Given the description of an element on the screen output the (x, y) to click on. 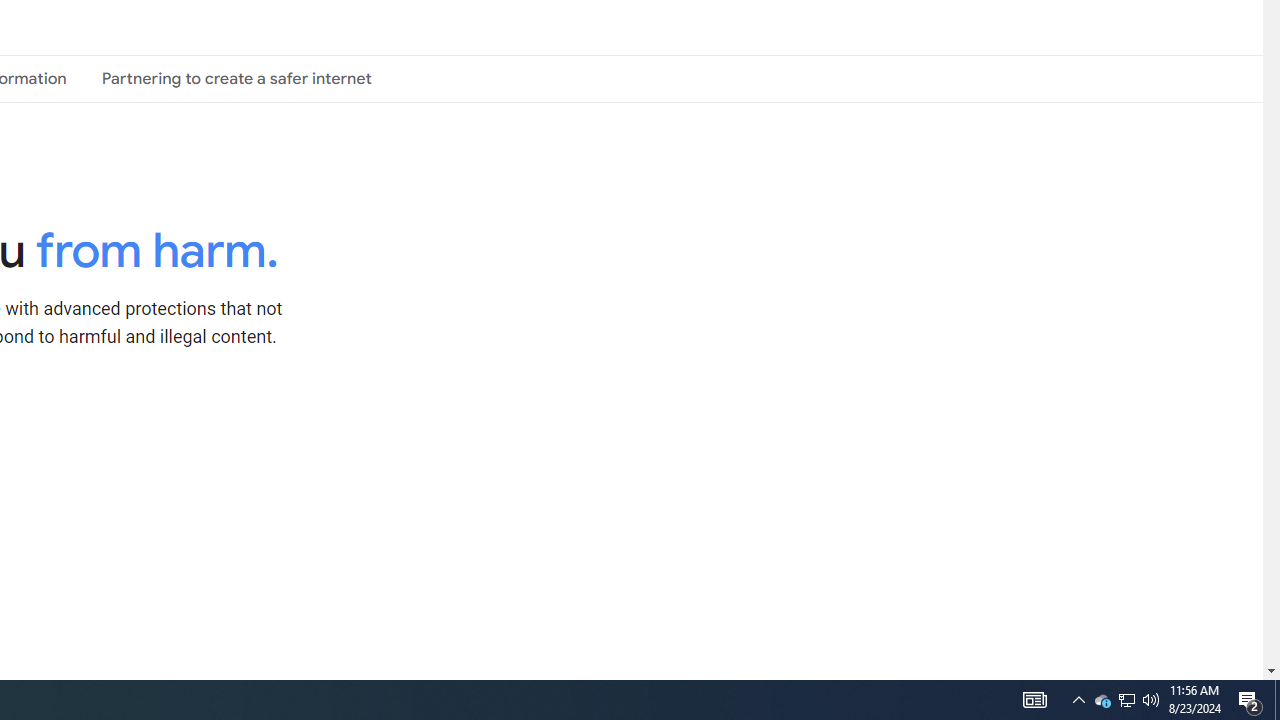
Expand All (459, 428)
Partnering to create a safer internet (236, 78)
